Given the description of an element on the screen output the (x, y) to click on. 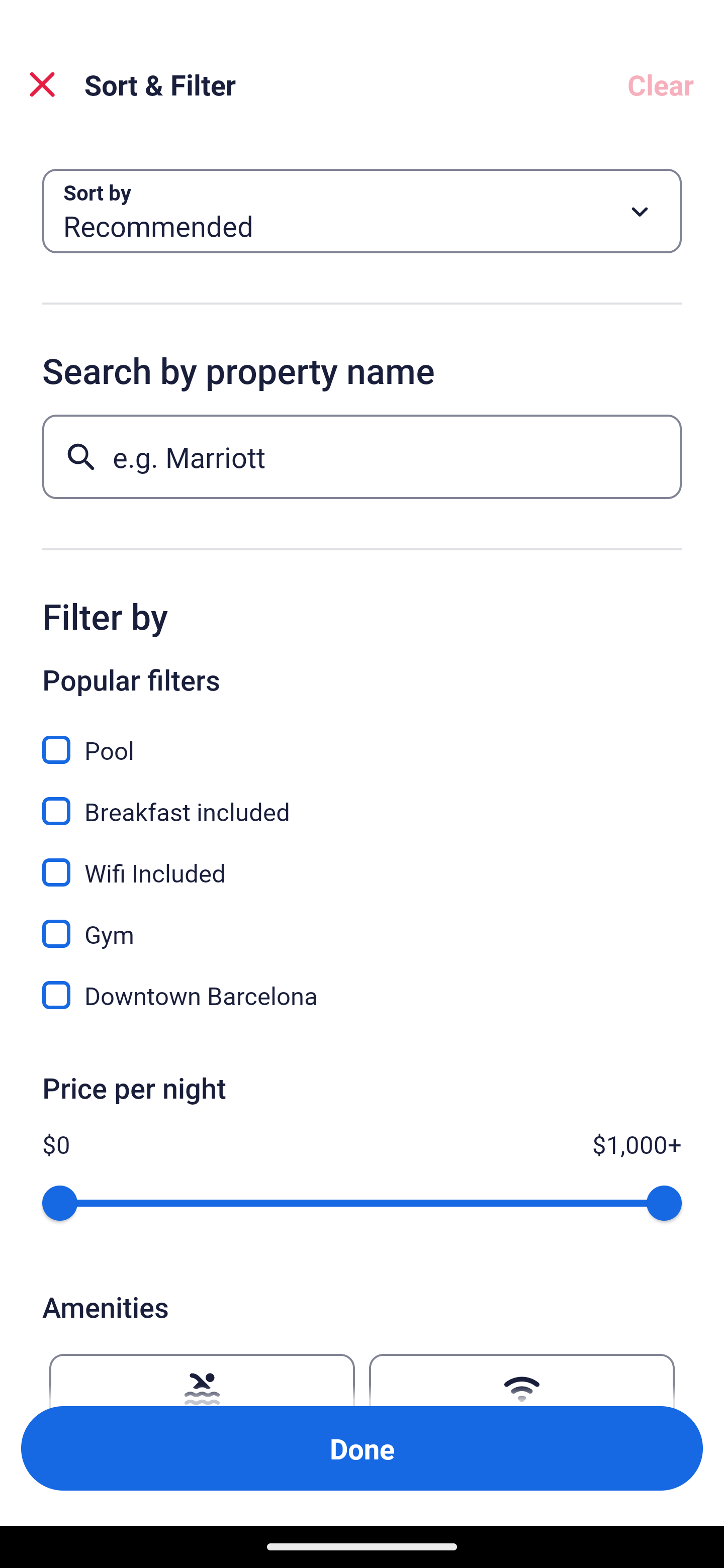
Close Sort and Filter (42, 84)
Clear (660, 84)
Sort by Button Recommended (361, 211)
e.g. Marriott Button (361, 455)
Pool, Pool (361, 738)
Breakfast included, Breakfast included (361, 800)
Wifi Included, Wifi Included (361, 861)
Gym, Gym (361, 922)
Downtown Barcelona, Downtown Barcelona (361, 995)
Apply and close Sort and Filter Done (361, 1448)
